Given the description of an element on the screen output the (x, y) to click on. 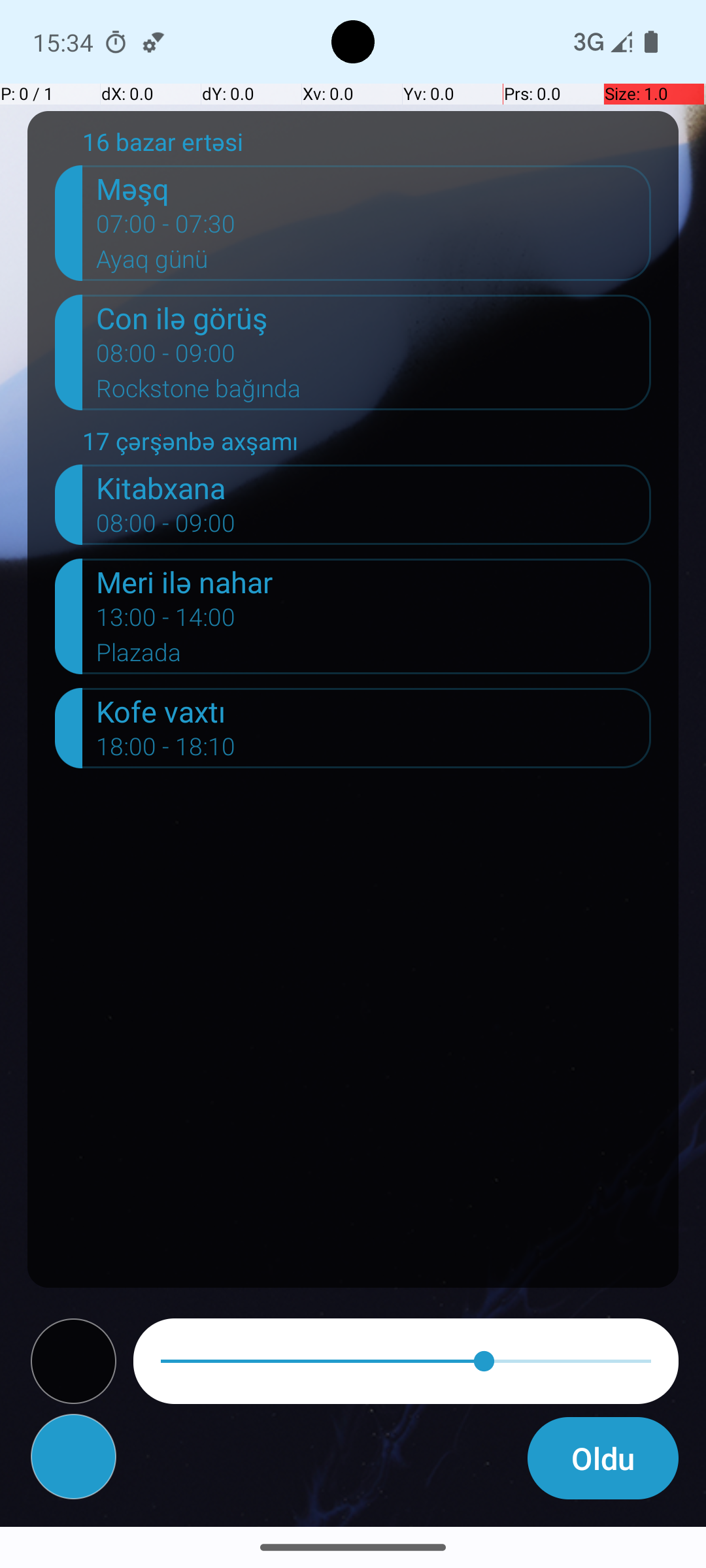
Oldu Element type: android.widget.Button (602, 1458)
16 bazar ertəsi Element type: android.widget.TextView (366, 144)
17 çərşənbə axşamı Element type: android.widget.TextView (366, 444)
Məşq Element type: android.widget.TextView (373, 187)
07:00 - 07:30 Element type: android.widget.TextView (165, 227)
Ayaq günü Element type: android.widget.TextView (373, 262)
Con ilə görüş Element type: android.widget.TextView (373, 316)
08:00 - 09:00 Element type: android.widget.TextView (165, 357)
Rockstone bağında Element type: android.widget.TextView (373, 392)
Kitabxana Element type: android.widget.TextView (373, 486)
Meri ilə nahar Element type: android.widget.TextView (373, 580)
13:00 - 14:00 Element type: android.widget.TextView (165, 620)
Plazada Element type: android.widget.TextView (373, 656)
Kofe vaxtı Element type: android.widget.TextView (373, 710)
18:00 - 18:10 Element type: android.widget.TextView (165, 750)
